Given the description of an element on the screen output the (x, y) to click on. 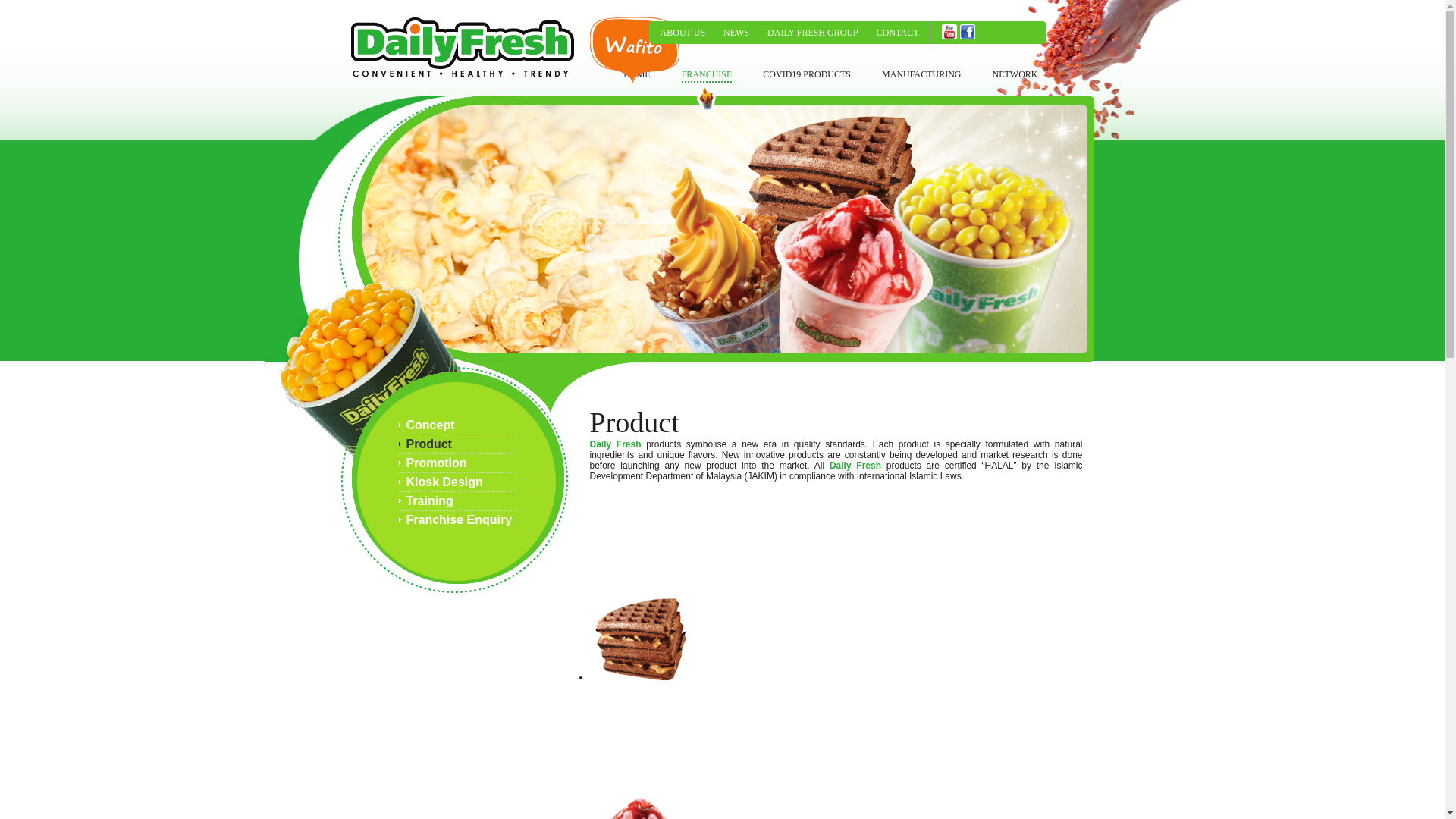
Training (456, 501)
NETWORK (1013, 75)
NEWS (736, 33)
FRANCHISE (706, 75)
DAILY FRESH GROUP (812, 33)
Franchise Enquiry (456, 520)
HOME (636, 75)
CONTACT (897, 33)
Promotion (456, 463)
COVID19 PRODUCTS (806, 75)
Kiosk Design (456, 482)
ABOUT US (682, 33)
Product (456, 444)
MANUFACTURING (921, 75)
Concept (456, 425)
